Given the description of an element on the screen output the (x, y) to click on. 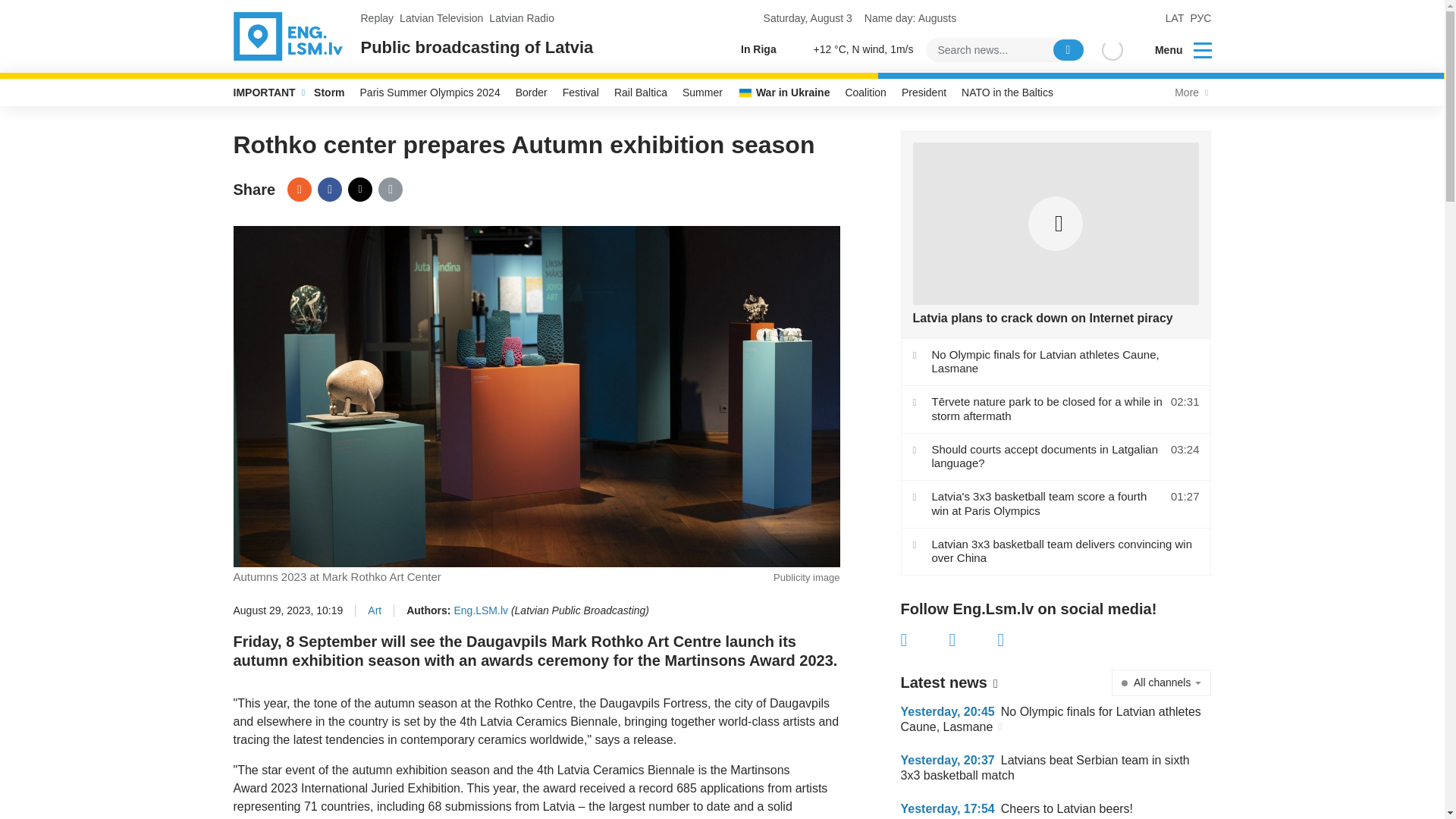
Festival (580, 92)
President (923, 92)
Latvian Radio (521, 18)
Border (531, 92)
Rail Baltica (641, 92)
Draugiem (298, 189)
Summer (702, 92)
Topics (1202, 49)
Linkedin (1021, 639)
Facebook (925, 639)
Menu (1173, 50)
X (973, 639)
Name day: Augusts (910, 18)
X (359, 189)
More (1189, 92)
